Given the description of an element on the screen output the (x, y) to click on. 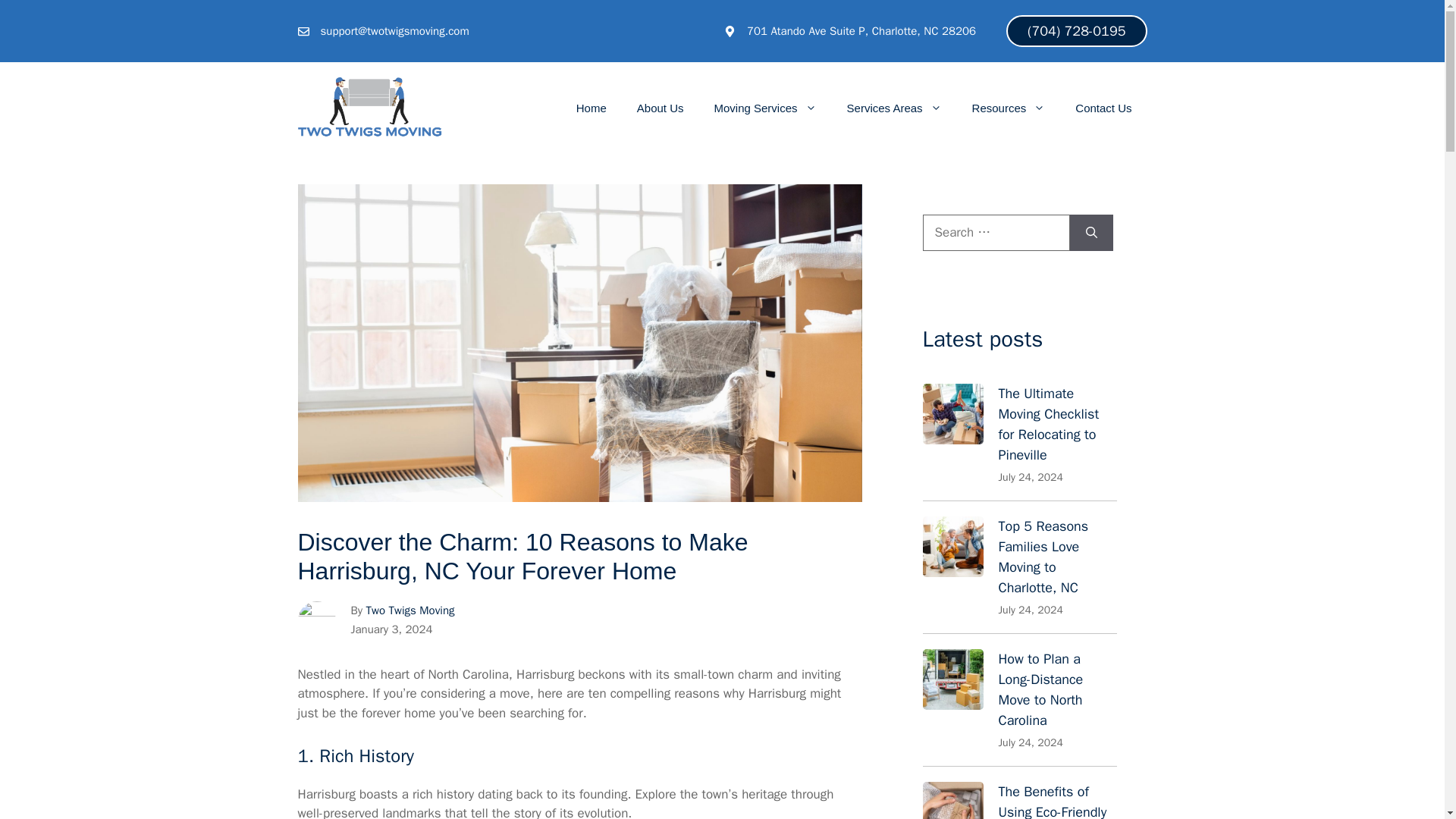
Services Areas (893, 108)
Moving Services (764, 108)
Home (590, 108)
About Us (659, 108)
Search for: (994, 232)
